Given the description of an element on the screen output the (x, y) to click on. 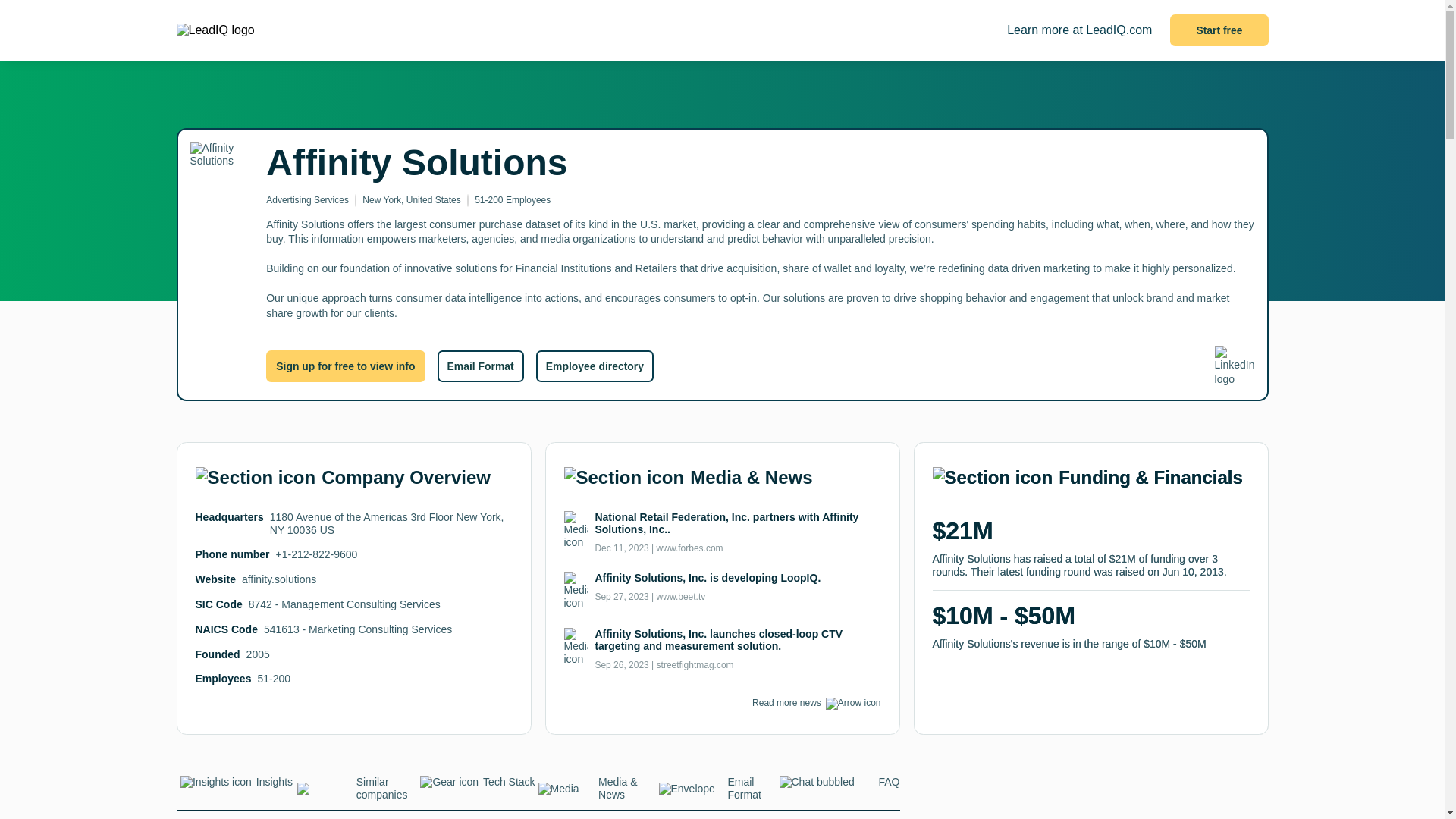
Email Format (479, 366)
Insights (236, 785)
Sign up for free to view info (345, 366)
FAQ (838, 785)
Start free (1219, 29)
Learn more at LeadIQ.com (1079, 29)
Similar companies (357, 792)
Email Format (718, 792)
Employee directory (594, 366)
Tech Stack (476, 785)
